Given the description of an element on the screen output the (x, y) to click on. 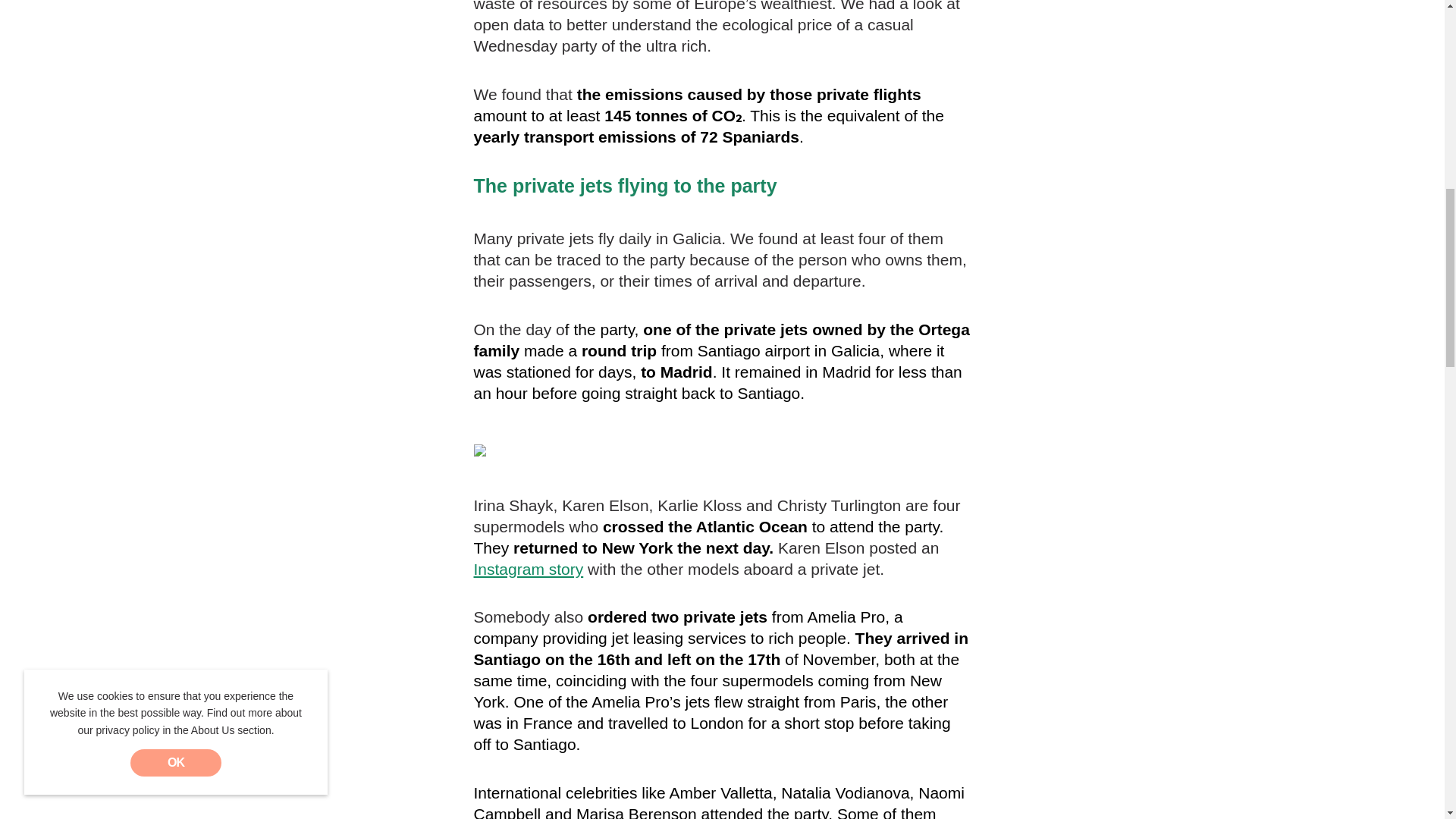
Instagram story (528, 569)
